Given the description of an element on the screen output the (x, y) to click on. 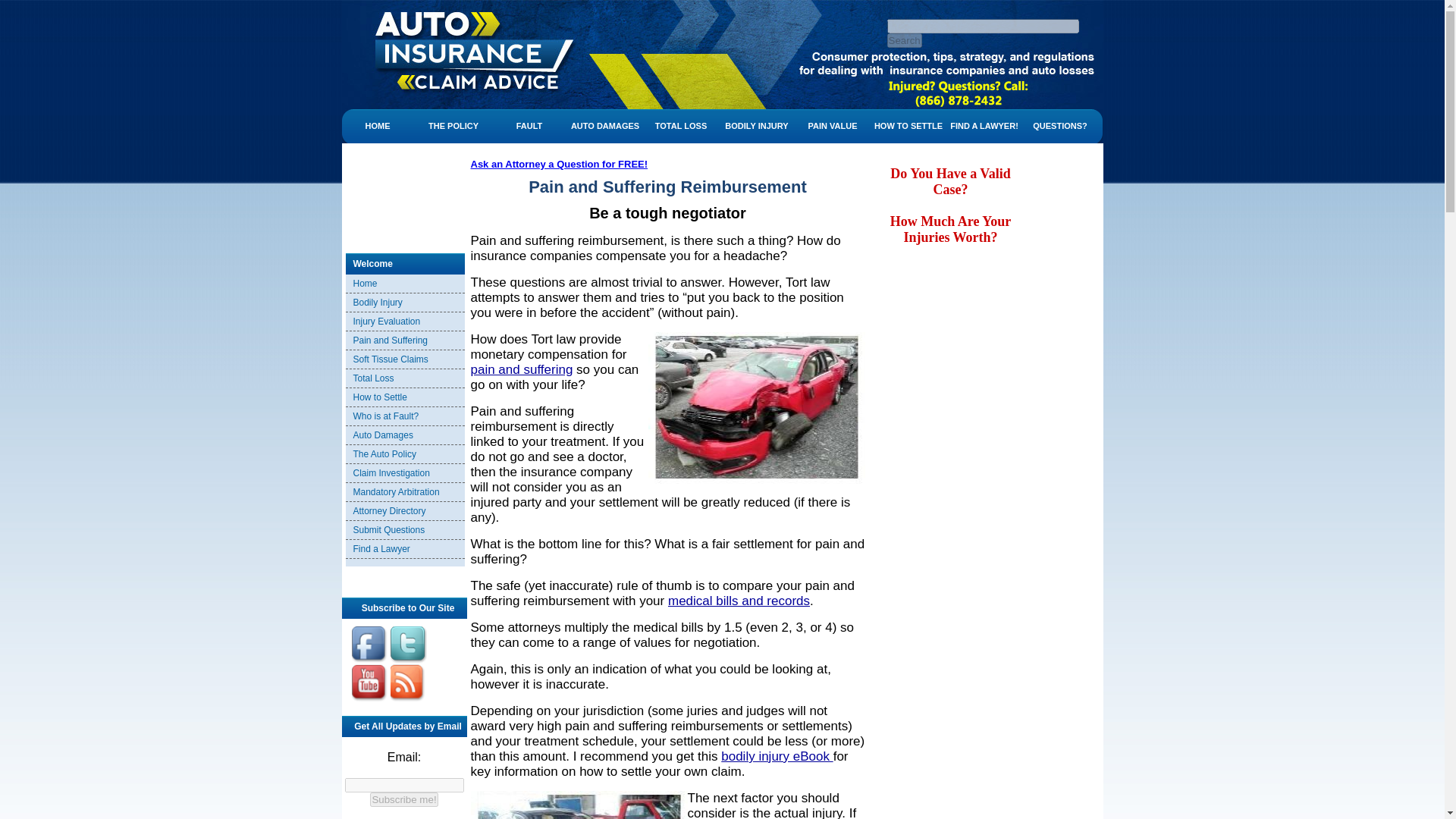
HOME (376, 125)
Pain and Suffering (456, 54)
Subscribe me! (403, 799)
THE POLICY (452, 125)
FAULT (528, 125)
Search (903, 40)
Search (903, 40)
AUTO DAMAGES (604, 125)
